Given the description of an element on the screen output the (x, y) to click on. 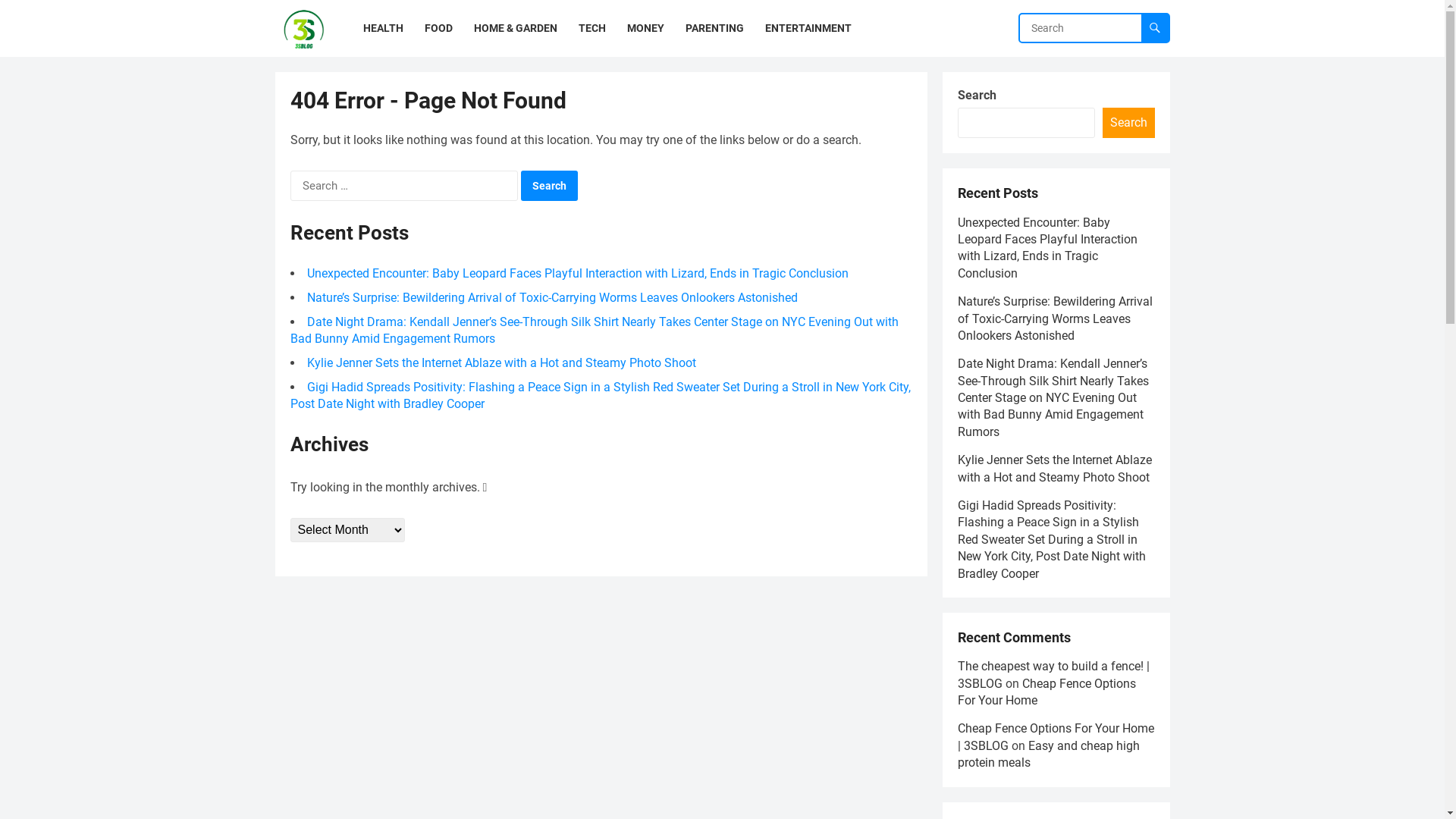
Cheap Fence Options For Your Home | 3SBLOG Element type: text (1055, 736)
Search Element type: text (548, 185)
MONEY Element type: text (644, 28)
HOME & GARDEN Element type: text (514, 28)
Search Element type: text (1128, 122)
PARENTING Element type: text (714, 28)
HEALTH Element type: text (382, 28)
The cheapest way to build a fence! | 3SBLOG Element type: text (1052, 674)
Cheap Fence Options For Your Home Element type: text (1046, 691)
FOOD Element type: text (438, 28)
Easy and cheap high protein meals Element type: text (1048, 753)
ENTERTAINMENT Element type: text (807, 28)
TECH Element type: text (591, 28)
